Given the description of an element on the screen output the (x, y) to click on. 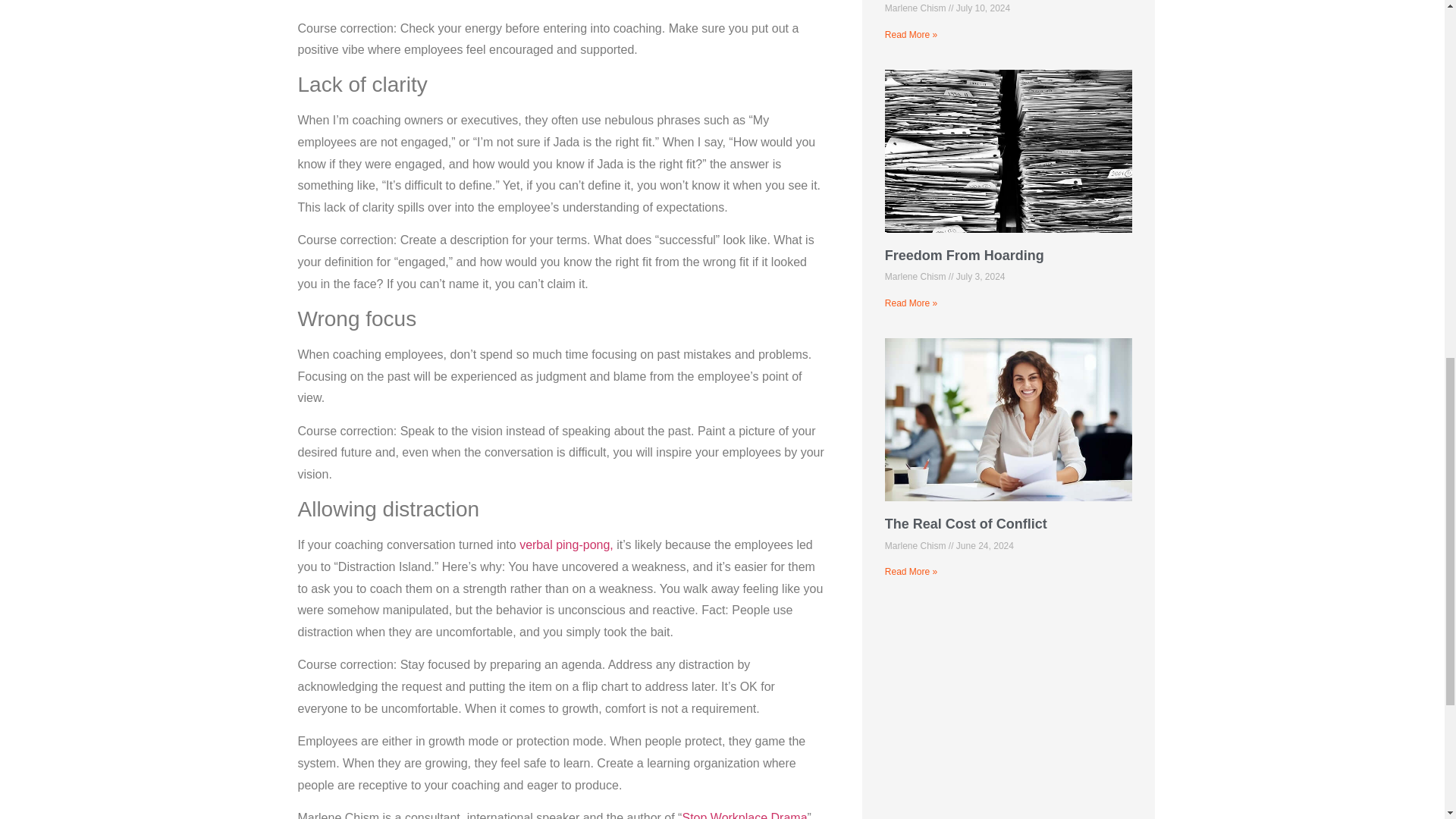
Stop Workplace Drama (743, 815)
verbal ping-pong, (567, 544)
